Given the description of an element on the screen output the (x, y) to click on. 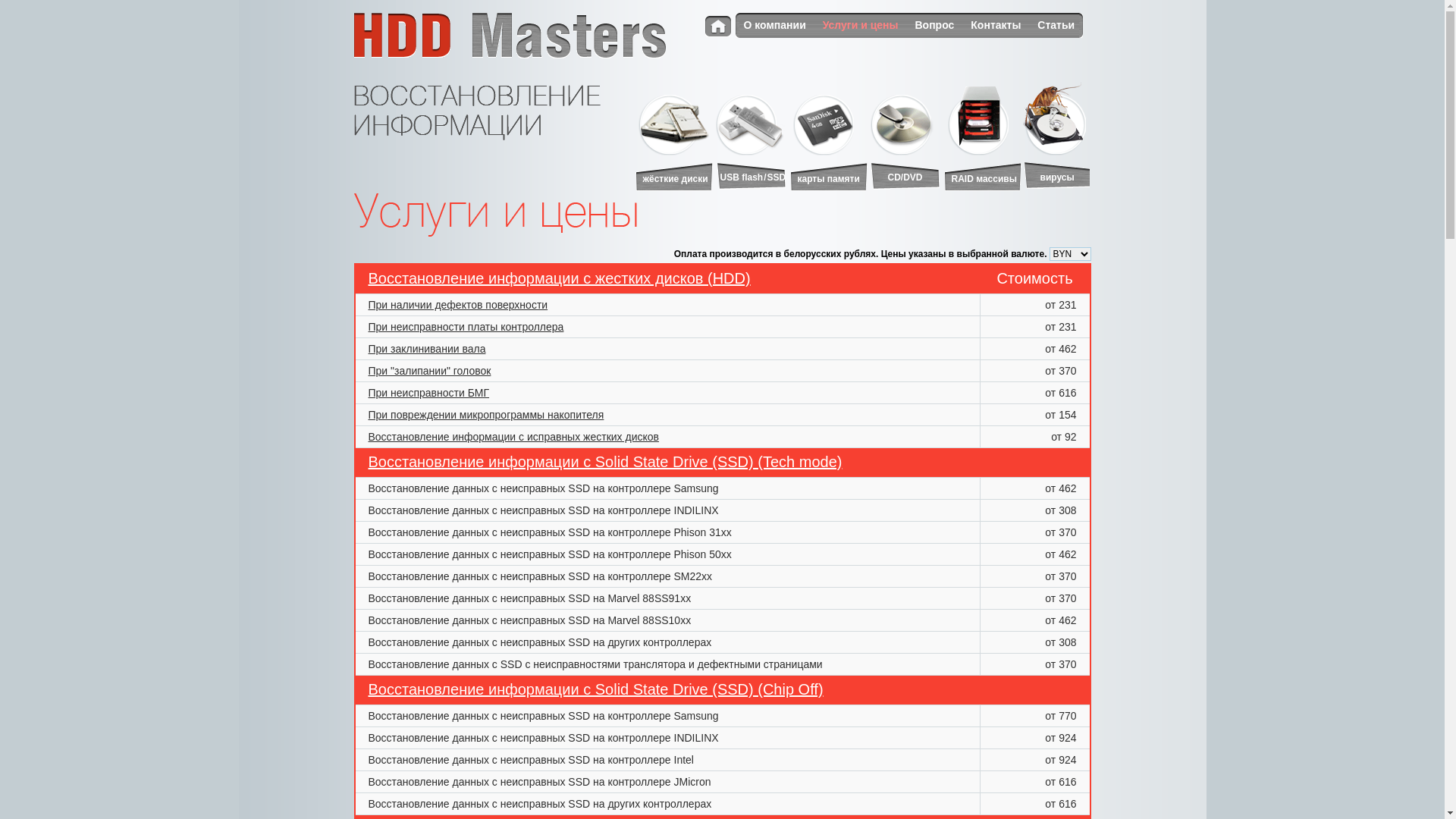
USB flash/SSD Element type: text (751, 176)
HDD Masters Element type: hover (509, 35)
CD/DVD Element type: text (905, 176)
